Given the description of an element on the screen output the (x, y) to click on. 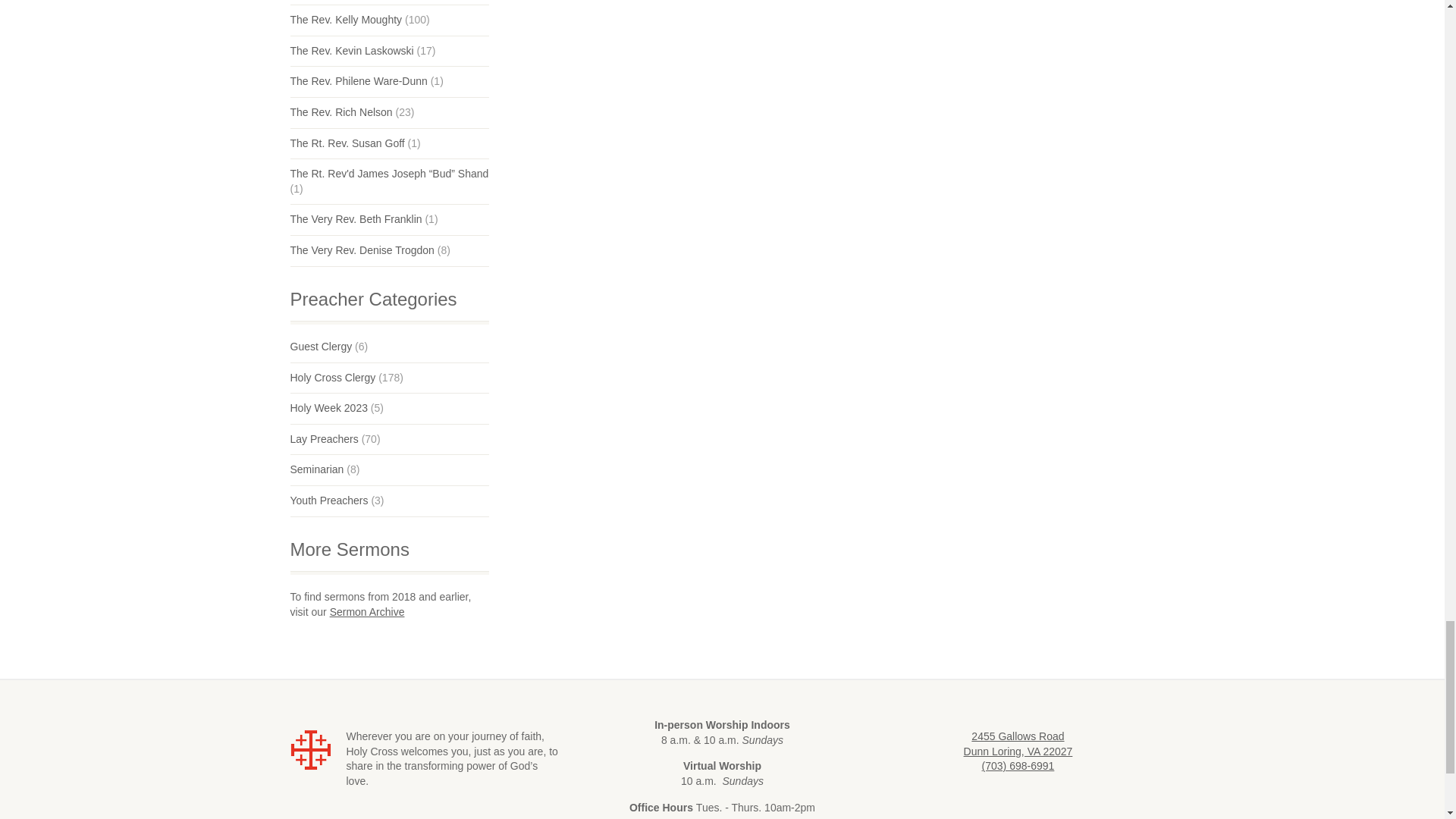
Directions to Holy Cross using Google Maps (1018, 743)
Telephone (1017, 766)
